Given the description of an element on the screen output the (x, y) to click on. 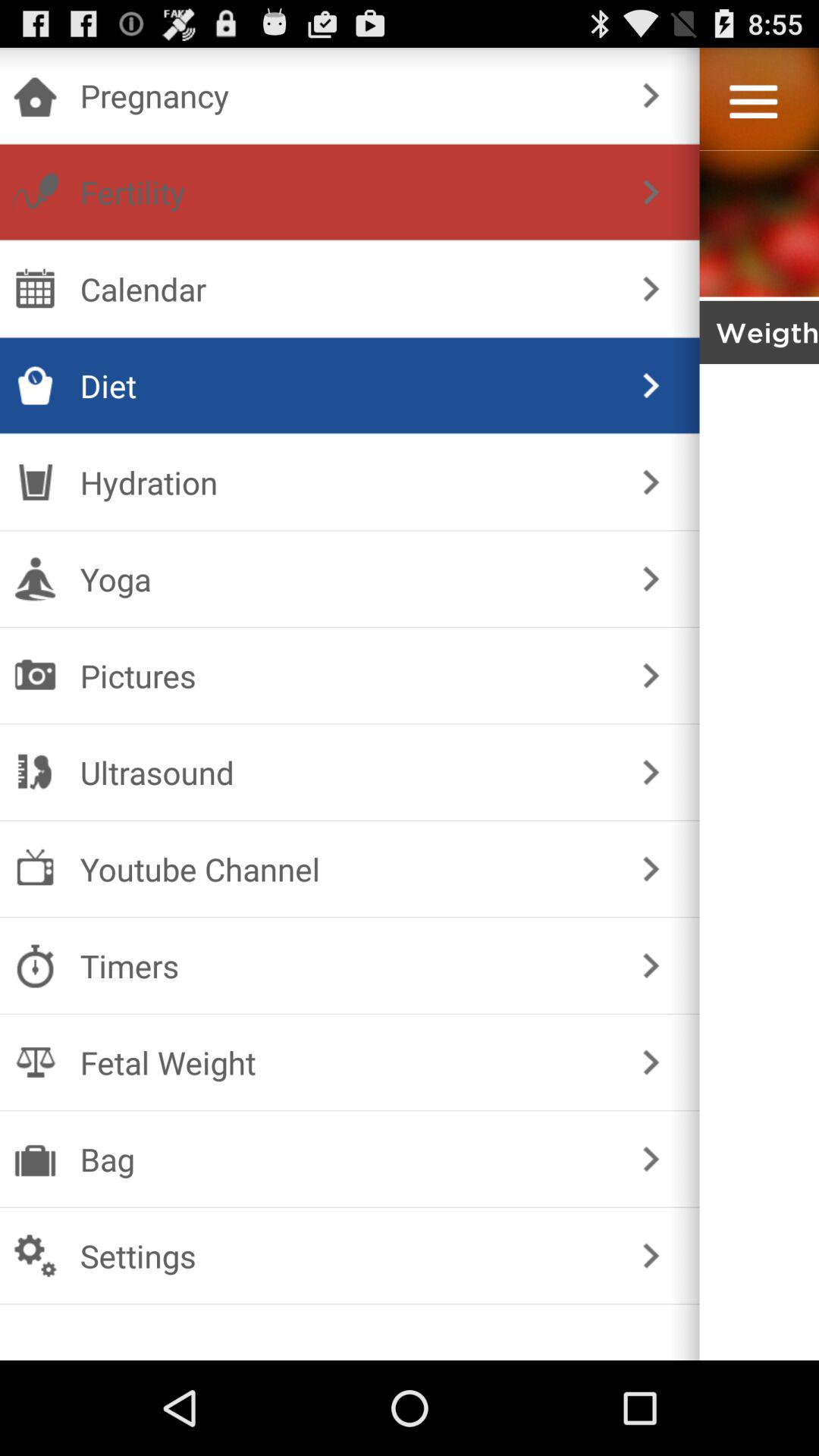
turn off the hydration (346, 481)
